Given the description of an element on the screen output the (x, y) to click on. 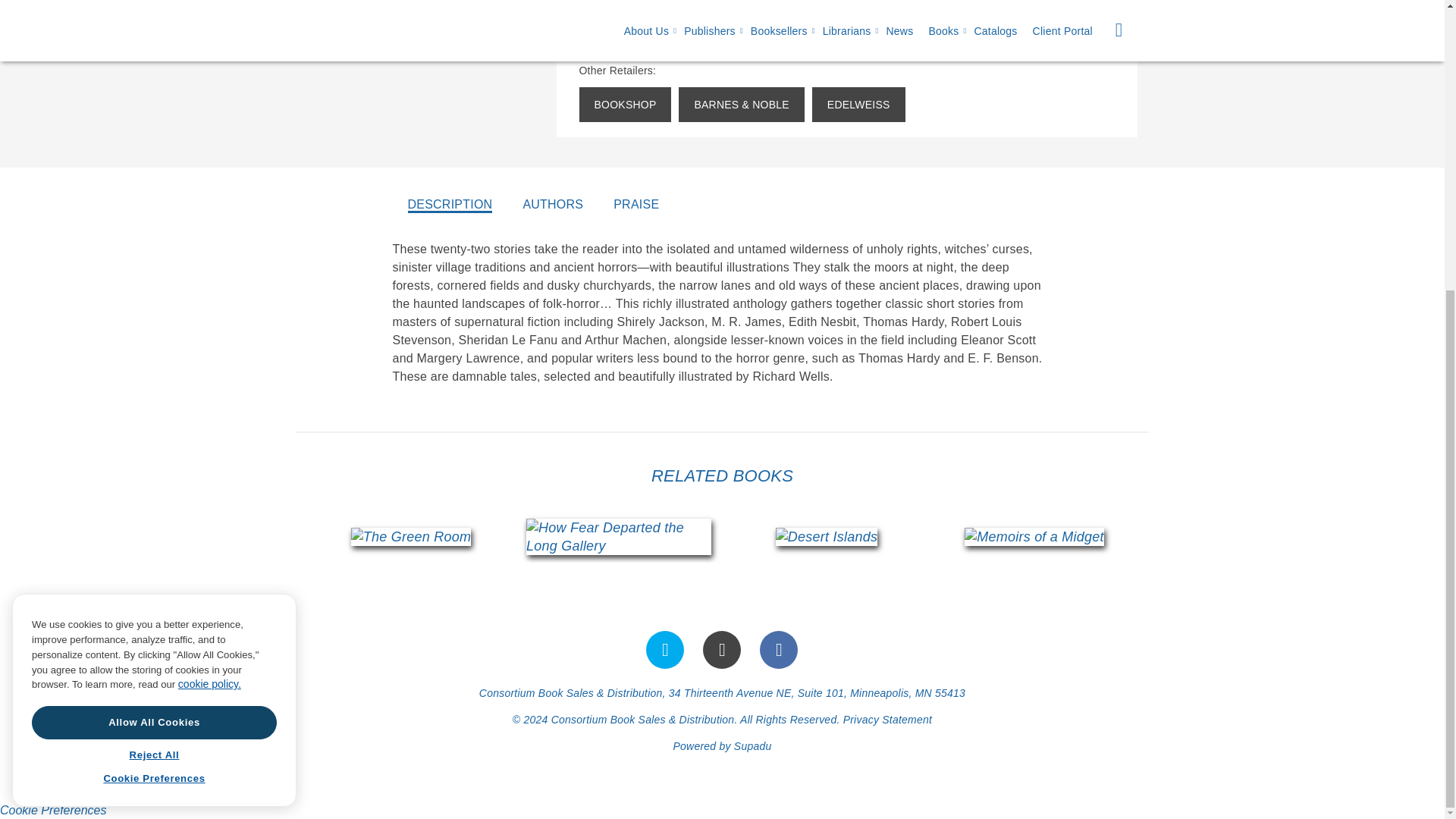
Follow us on Facebook (778, 649)
isbn-carousel (722, 536)
Bookshop (625, 104)
Edelweiss (858, 104)
Desert Islands (826, 536)
How Fear Departed the Long Gallery (618, 536)
Follow us on Instagram (722, 649)
The Green Room (410, 536)
Memoirs of a Midget (1033, 536)
